Given the description of an element on the screen output the (x, y) to click on. 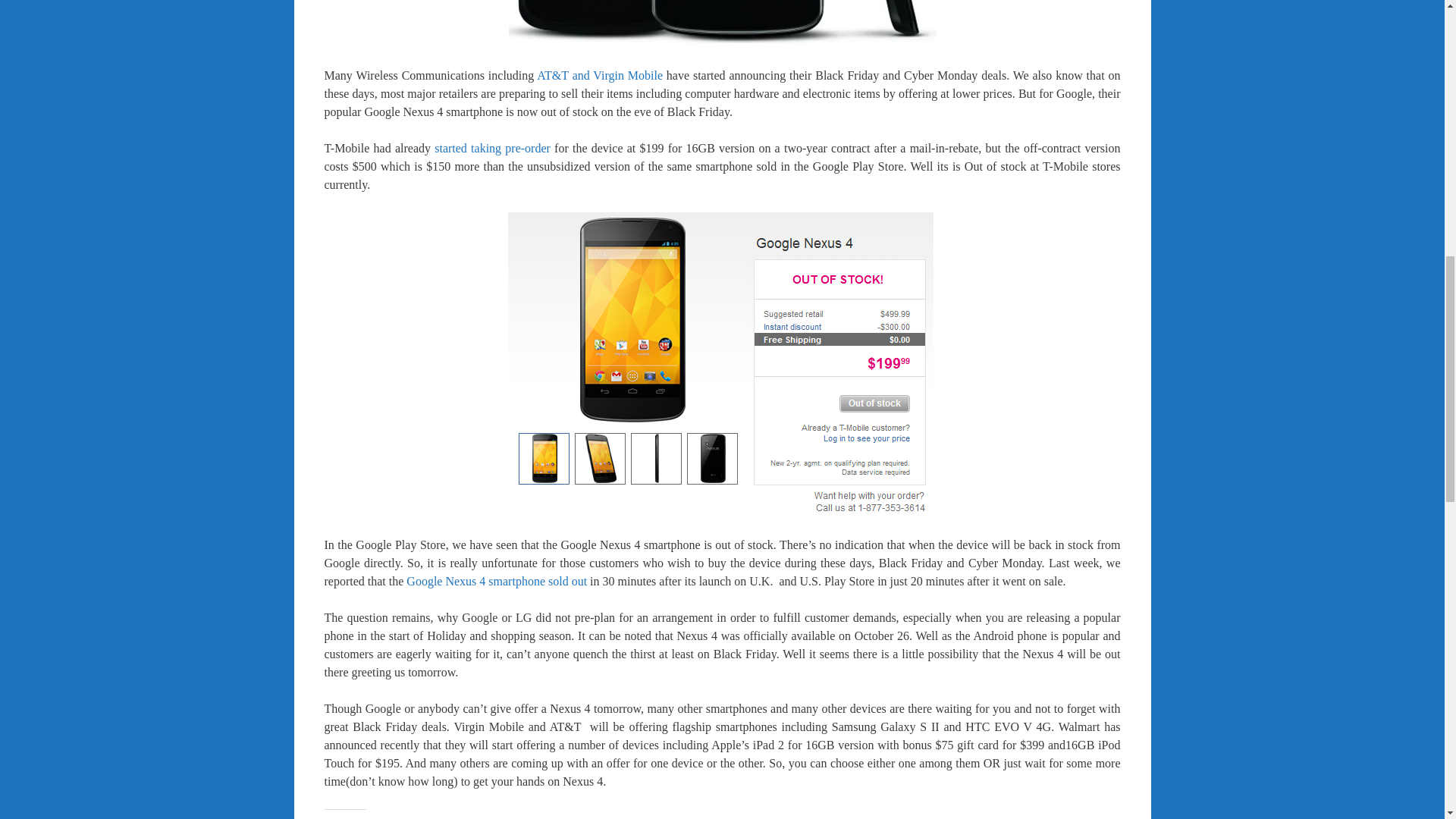
started taking pre-order (491, 147)
Google Nexus 4 smartphone sold out (496, 581)
Google Nexus 4 (722, 21)
Google Nexus 4 Out Of Stock (722, 362)
